Given the description of an element on the screen output the (x, y) to click on. 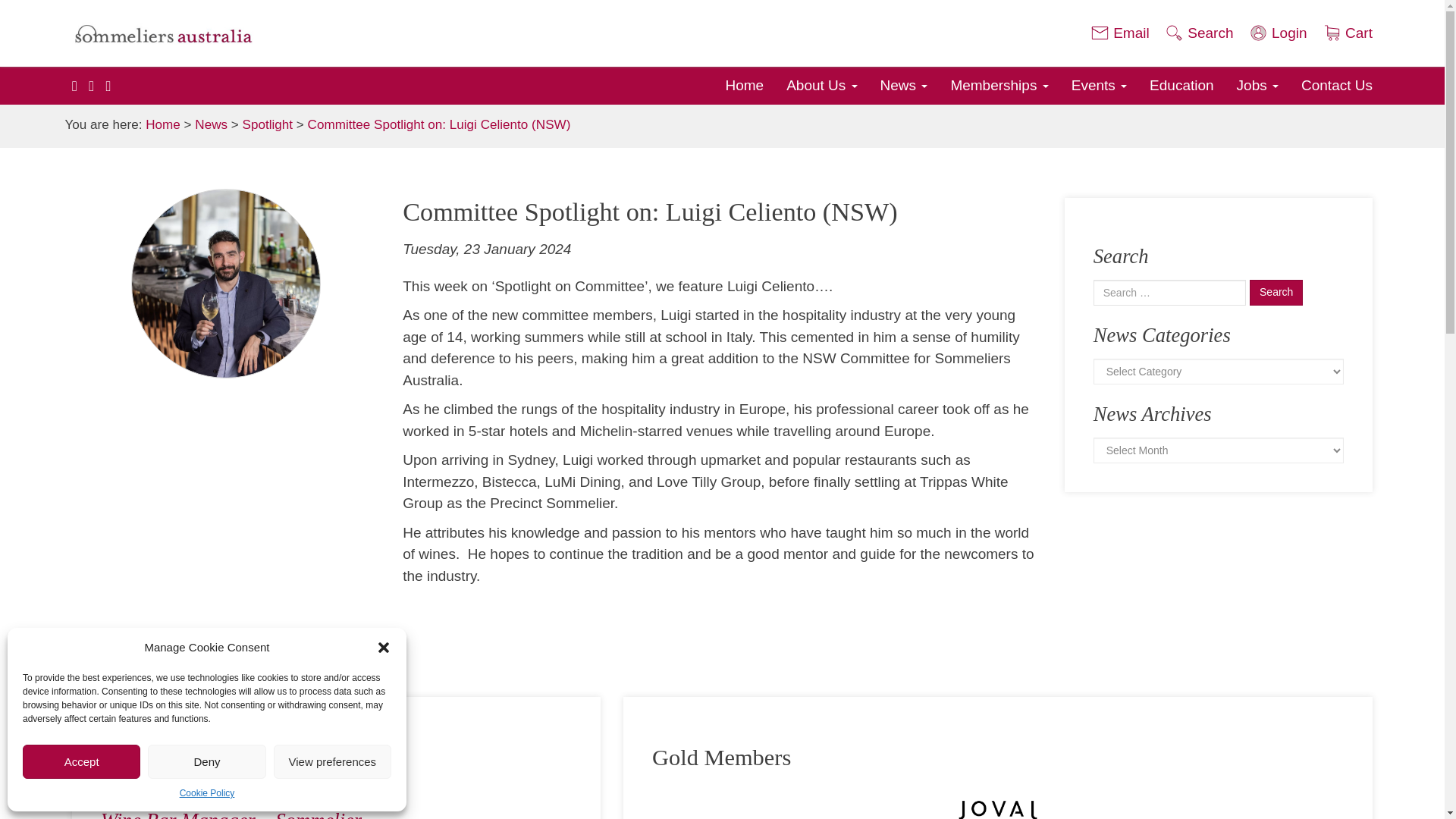
Memberships (999, 85)
Search (1276, 292)
Search (1276, 292)
News (904, 85)
Cookie Policy (206, 793)
Accept (81, 761)
About Us (820, 85)
Events (1098, 85)
Home (743, 85)
Memberships (999, 85)
Deny (206, 761)
View preferences (332, 761)
About Us (820, 85)
News (904, 85)
Home (743, 85)
